Given the description of an element on the screen output the (x, y) to click on. 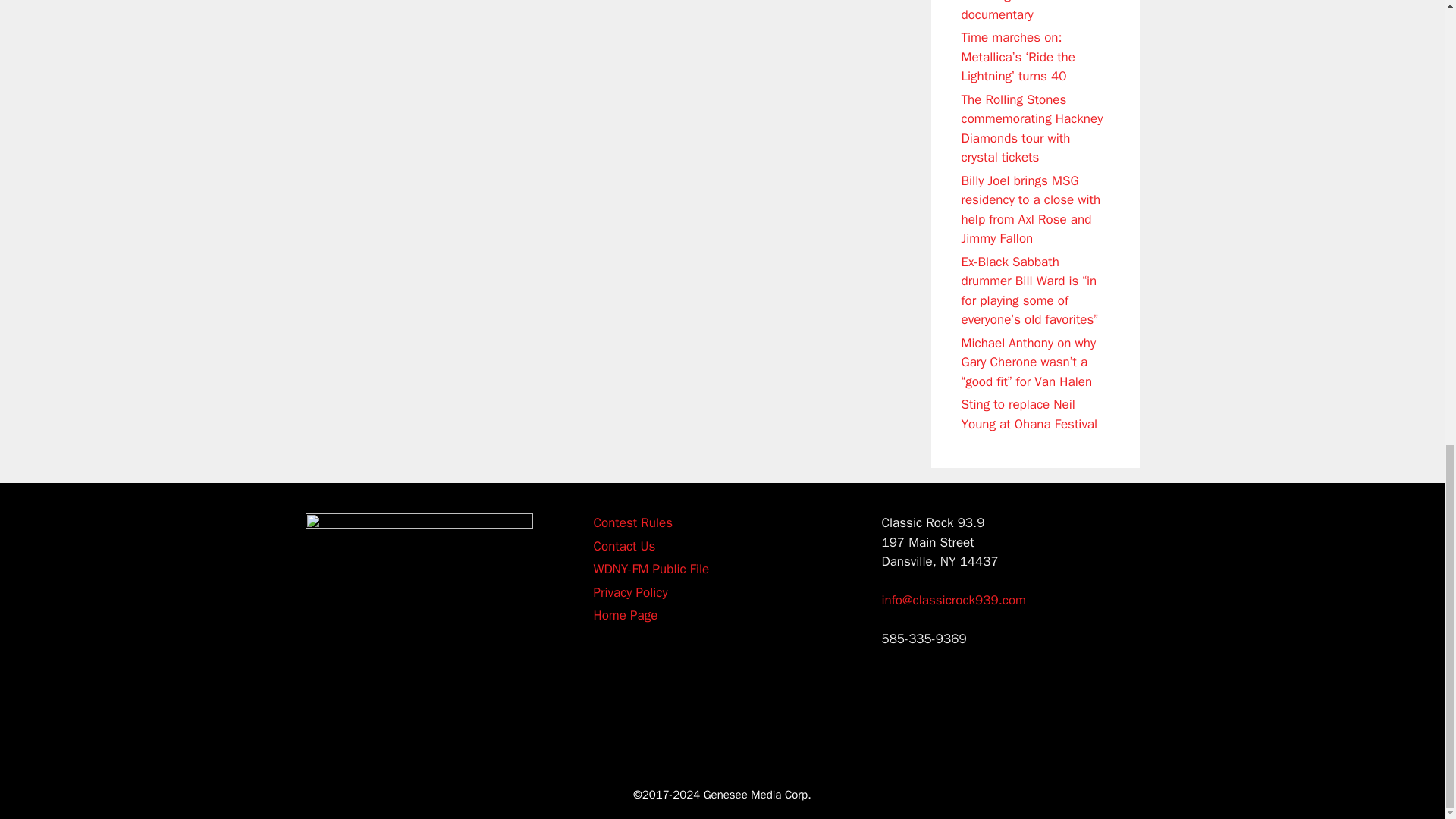
Sting to replace Neil Young at Ohana Festival (1028, 414)
Contact Us (623, 546)
Privacy Policy (629, 591)
Contest Rules (632, 522)
WDNY-FM Public File (650, 569)
